Given the description of an element on the screen output the (x, y) to click on. 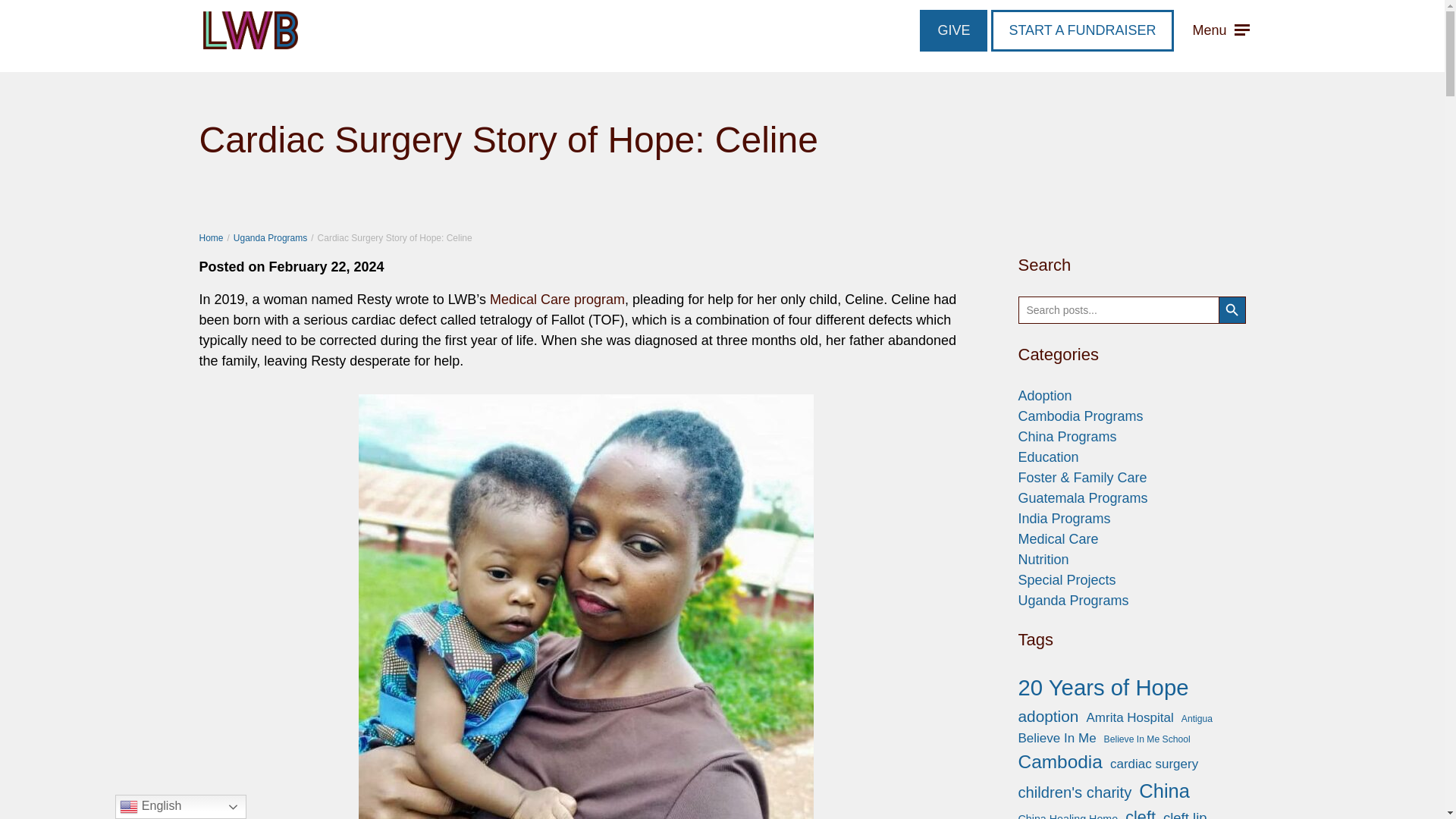
Nutrition (1042, 559)
cleft (1140, 812)
Special Projects (1066, 580)
India Programs (1063, 518)
Uganda Programs (1072, 600)
Believe In Me (1056, 738)
GIVE (953, 30)
China Programs (1066, 436)
20 Years of Hope (1102, 687)
Search Button (1230, 309)
cardiac surgery (1153, 763)
Believe In Me School (1147, 739)
adoption (1047, 716)
Medical Care (1057, 539)
Guatemala Programs (1082, 498)
